Given the description of an element on the screen output the (x, y) to click on. 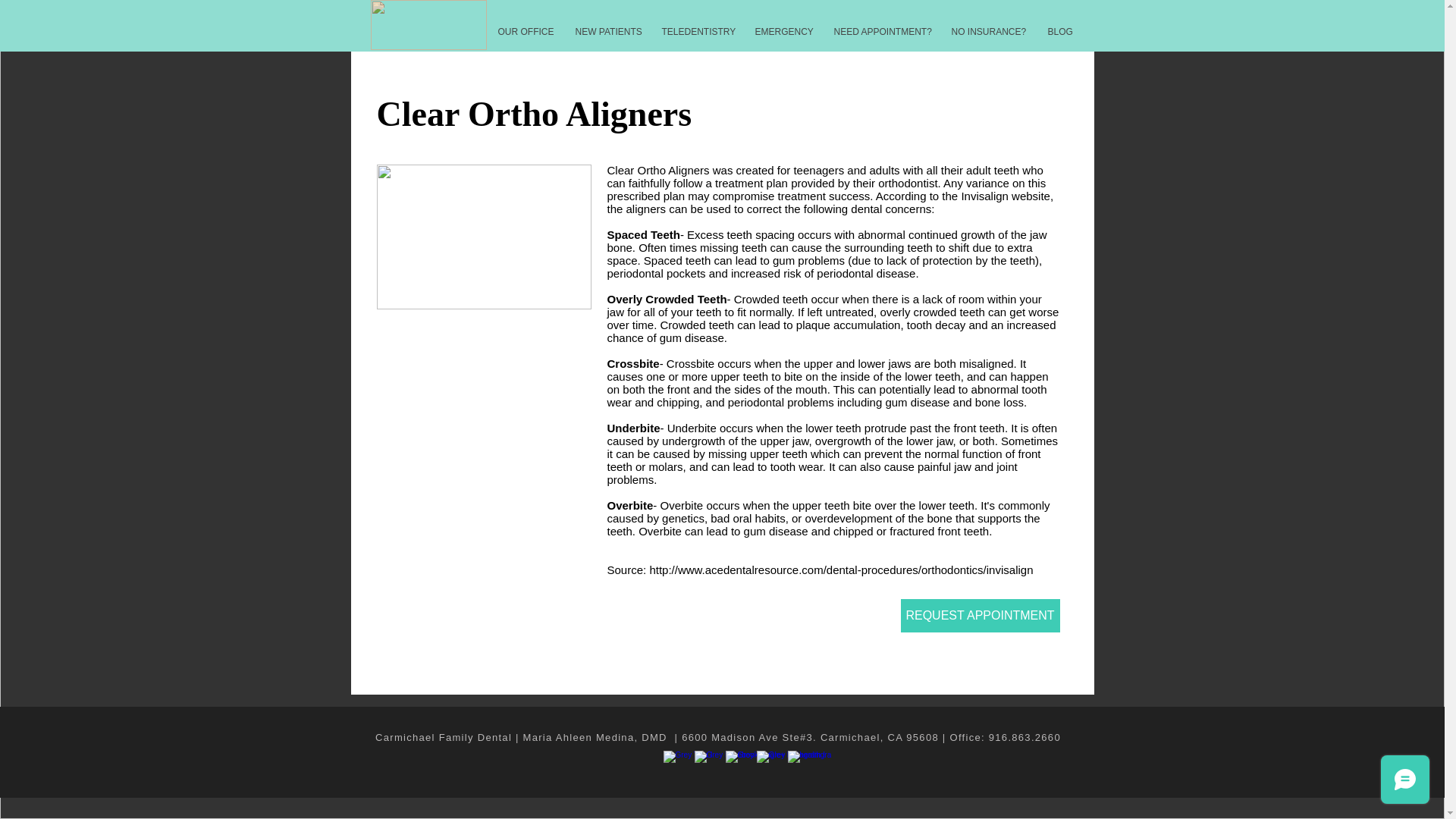
OUR OFFICE (524, 31)
NEED APPOINTMENT? (880, 31)
EMERGENCY (782, 31)
REQUEST APPOINTMENT (980, 615)
BLOG (1059, 31)
TELEDENTISTRY (695, 31)
NO INSURANCE? (987, 31)
NEW PATIENTS (605, 31)
